Given the description of an element on the screen output the (x, y) to click on. 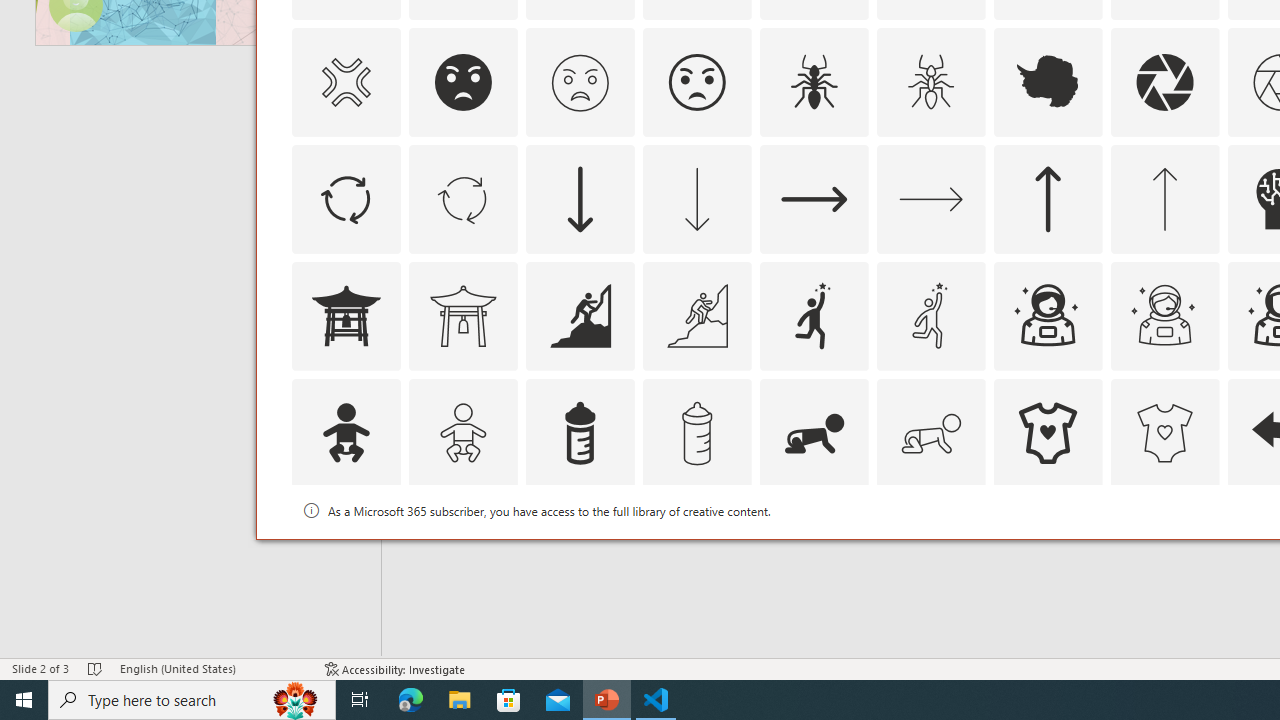
AutomationID: Icons_AngryFace_Outline (696, 82)
AutomationID: Icons_Badge3_M (813, 550)
AutomationID: Icons_ArrowCircle_M (463, 198)
AutomationID: Icons_Badge4 (930, 550)
AutomationID: Icons (1048, 550)
AutomationID: Icons_ArrowUp (1048, 198)
AutomationID: Icons_AstronautFemale (1048, 316)
